Given the description of an element on the screen output the (x, y) to click on. 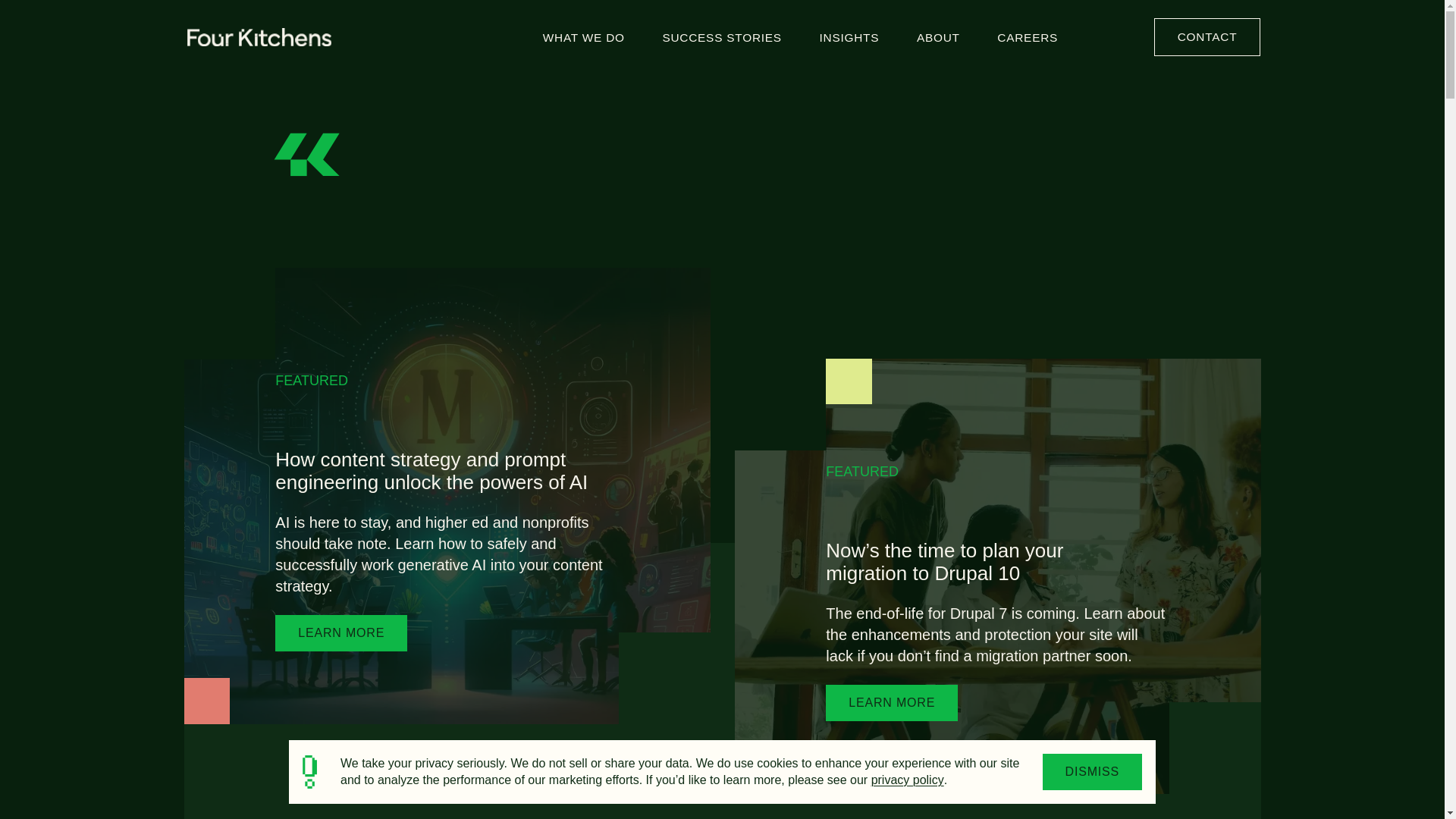
SUCCESS STORIES (721, 37)
CAREERS (1026, 37)
ABOUT (938, 37)
CONTACT (1207, 36)
WHAT WE DO (583, 37)
INSIGHTS (848, 37)
